Given the description of an element on the screen output the (x, y) to click on. 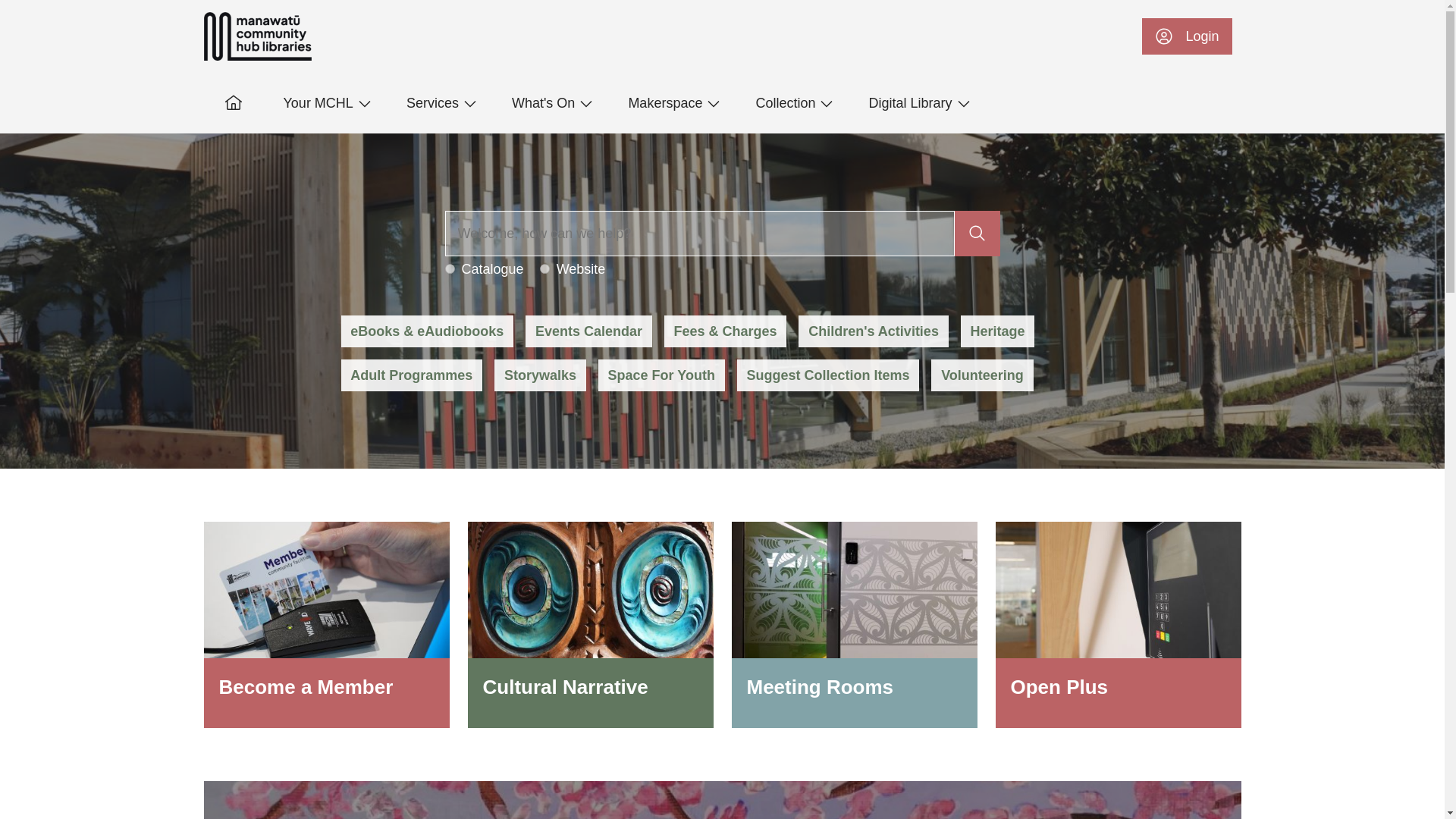
Login (1186, 36)
website (545, 268)
Search (699, 233)
Home (257, 36)
catalogue (449, 268)
